Given the description of an element on the screen output the (x, y) to click on. 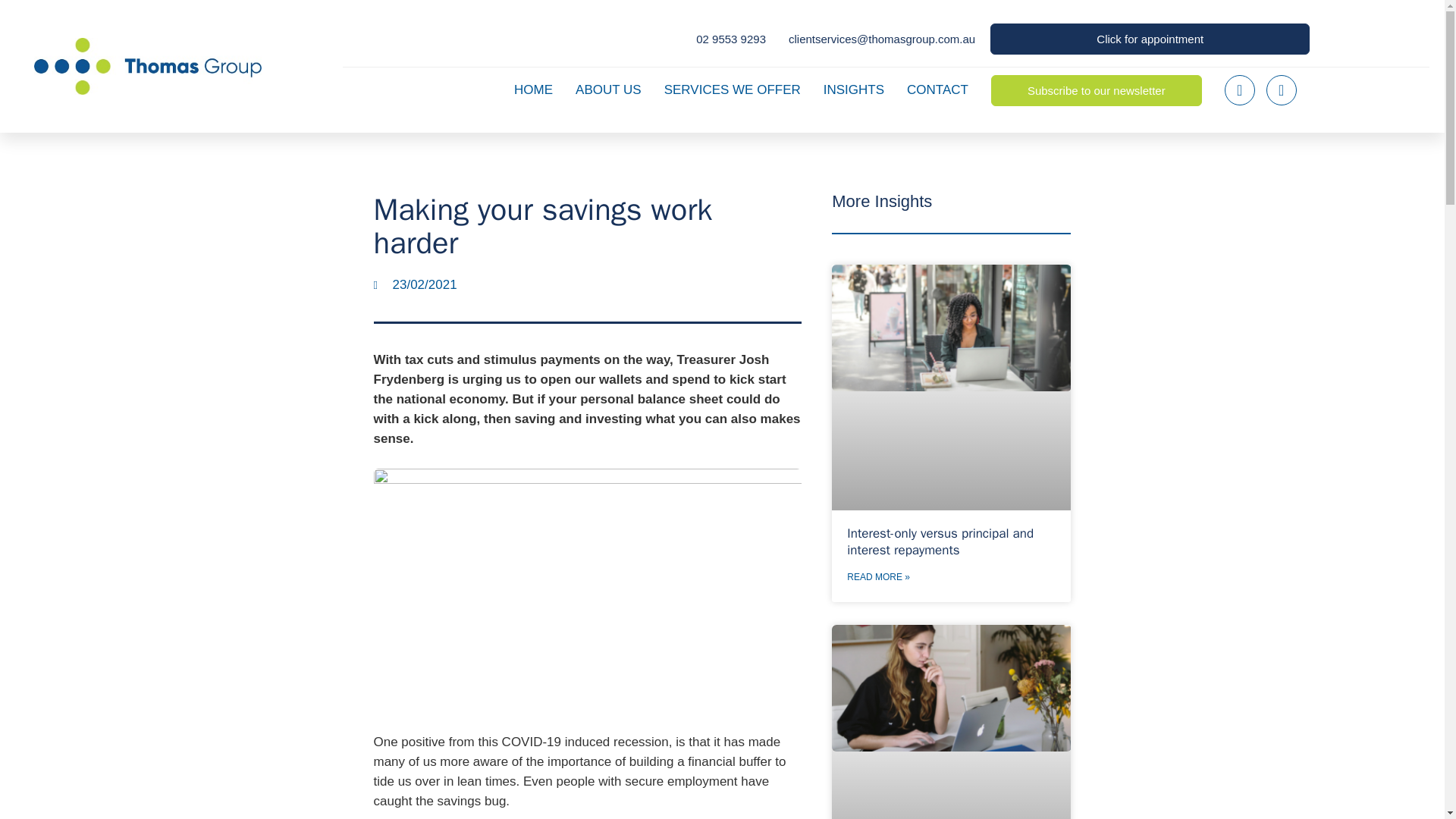
SERVICES WE OFFER (732, 90)
02 9553 9293 (730, 38)
CONTACT (937, 90)
INSIGHTS (853, 90)
ABOUT US (608, 90)
HOME (533, 90)
Click for appointment (1149, 38)
Interest-only versus principal and interest repayments (940, 541)
Subscribe to our newsletter (1096, 90)
